Given the description of an element on the screen output the (x, y) to click on. 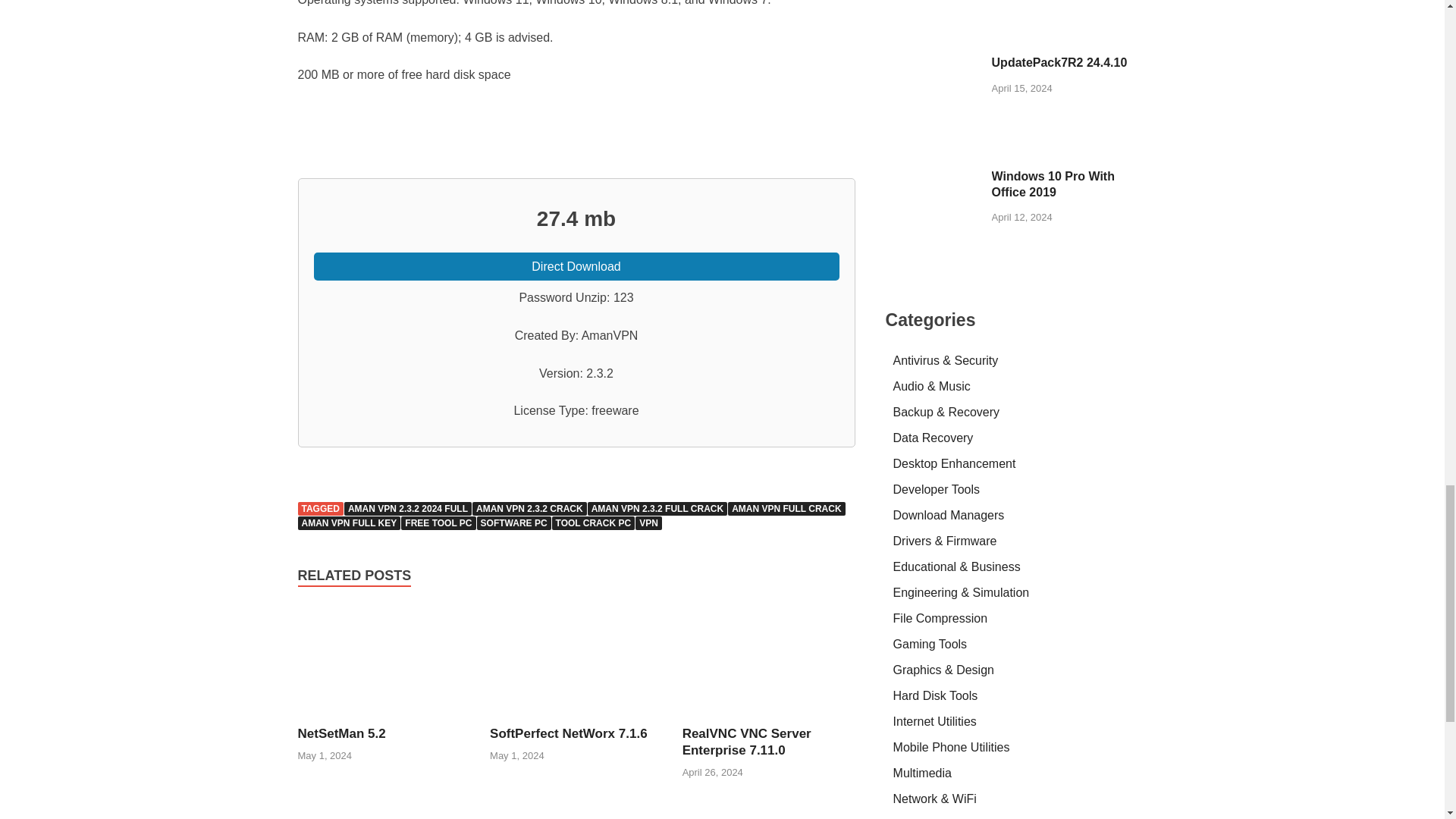
RealVNC VNC Server Enterprise 7.11.0 (769, 716)
NetSetMan 5.2 (341, 733)
SOFTWARE PC (514, 522)
VPN (648, 522)
SoftPerfect NetWorx 7.1.6 (568, 733)
AMAN VPN 2.3.2 CRACK (528, 508)
SoftPerfect NetWorx 7.1.6 (568, 733)
AMAN VPN 2.3.2 2024 FULL (407, 508)
Windows 10 Pro With Office 2019 (932, 177)
Direct Download (577, 266)
